Given the description of an element on the screen output the (x, y) to click on. 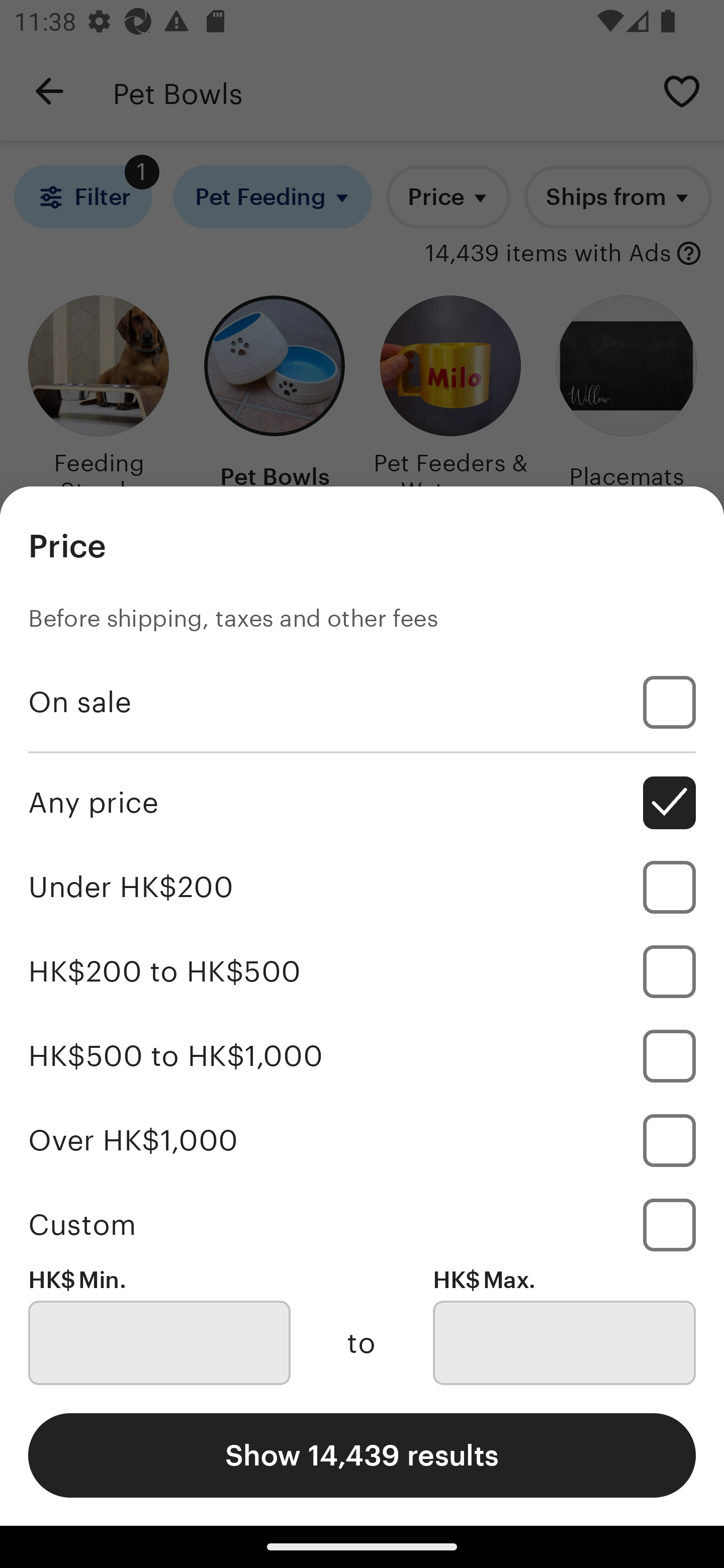
On sale (362, 702)
Any price (362, 802)
Under HK$200 (362, 887)
HK$200 to HK$500 (362, 970)
HK$500 to HK$1,000 (362, 1054)
Over HK$1,000 (362, 1139)
Custom (362, 1224)
Show 14,439 results (361, 1454)
